Given the description of an element on the screen output the (x, y) to click on. 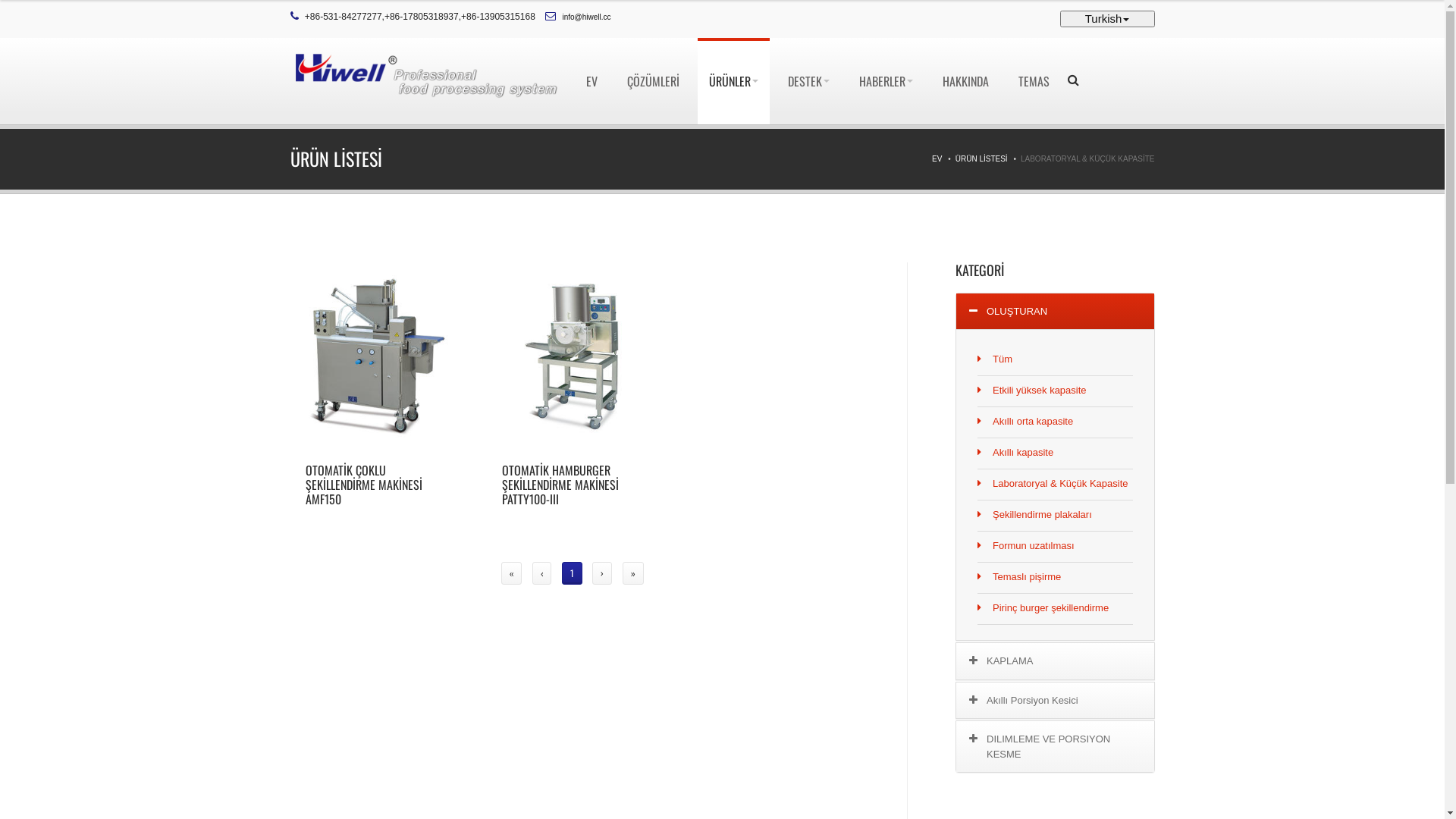
info@hiwell.cc Element type: text (586, 16)
1 Element type: text (571, 572)
TEMAS Element type: text (1033, 80)
DILIMLEME VE PORSIYON KESME Element type: text (1055, 746)
EV Element type: text (591, 80)
EV Element type: text (936, 158)
HAKKINDA Element type: text (965, 80)
HABERLER Element type: text (885, 80)
Turkish Element type: text (1107, 18)
KAPLAMA Element type: text (1055, 661)
DESTEK Element type: text (808, 80)
